Given the description of an element on the screen output the (x, y) to click on. 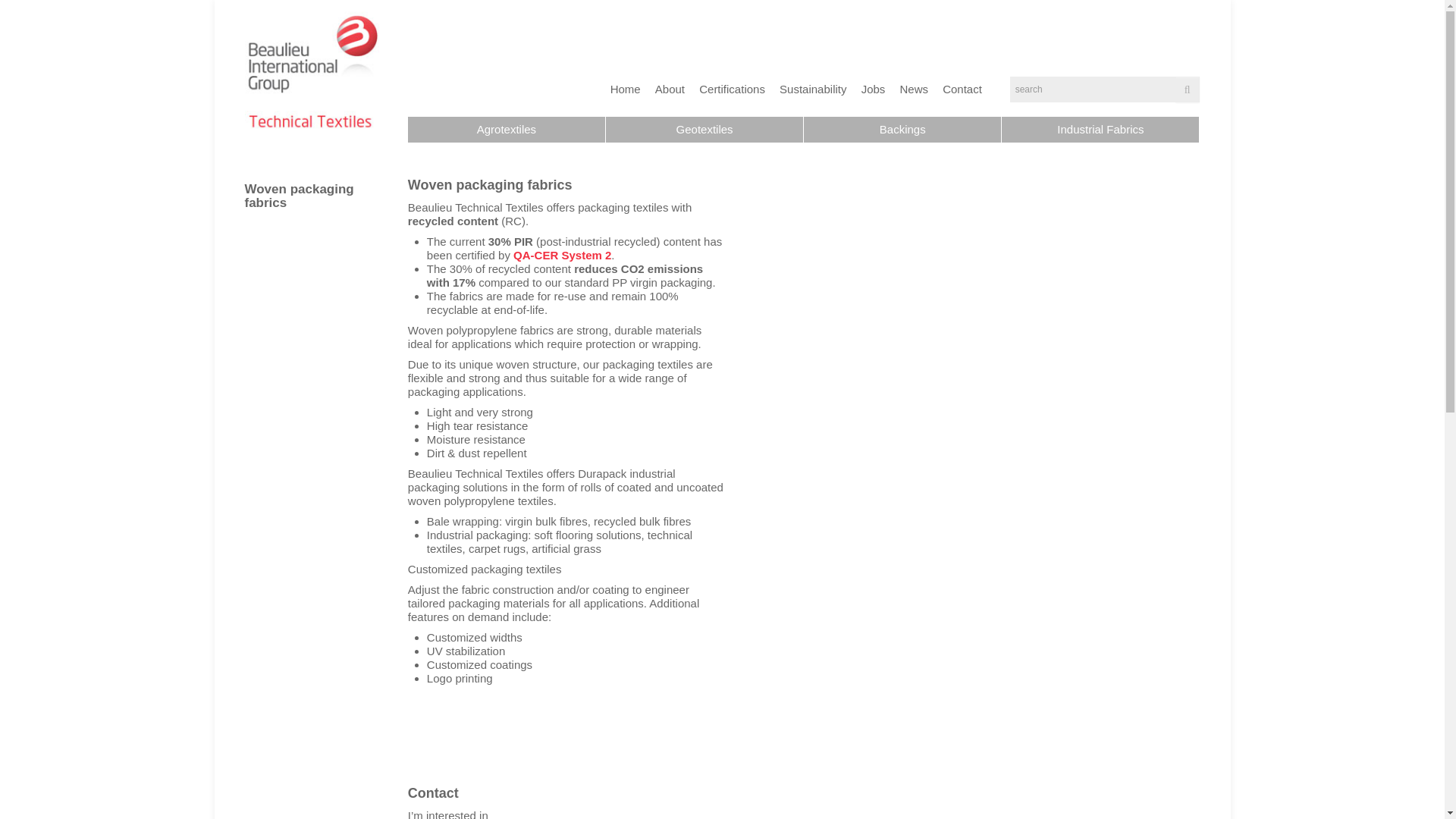
Certificate QA-CER System 2 (562, 254)
Contact (964, 88)
Home (627, 88)
Certifications (734, 88)
Backings (902, 129)
QA-CER System 2 (562, 254)
Agrotextiles (506, 129)
Industrial Fabrics (1099, 129)
About (671, 88)
News (916, 88)
Jobs (875, 88)
Geotextiles (704, 129)
Sustainability (814, 88)
